Given the description of an element on the screen output the (x, y) to click on. 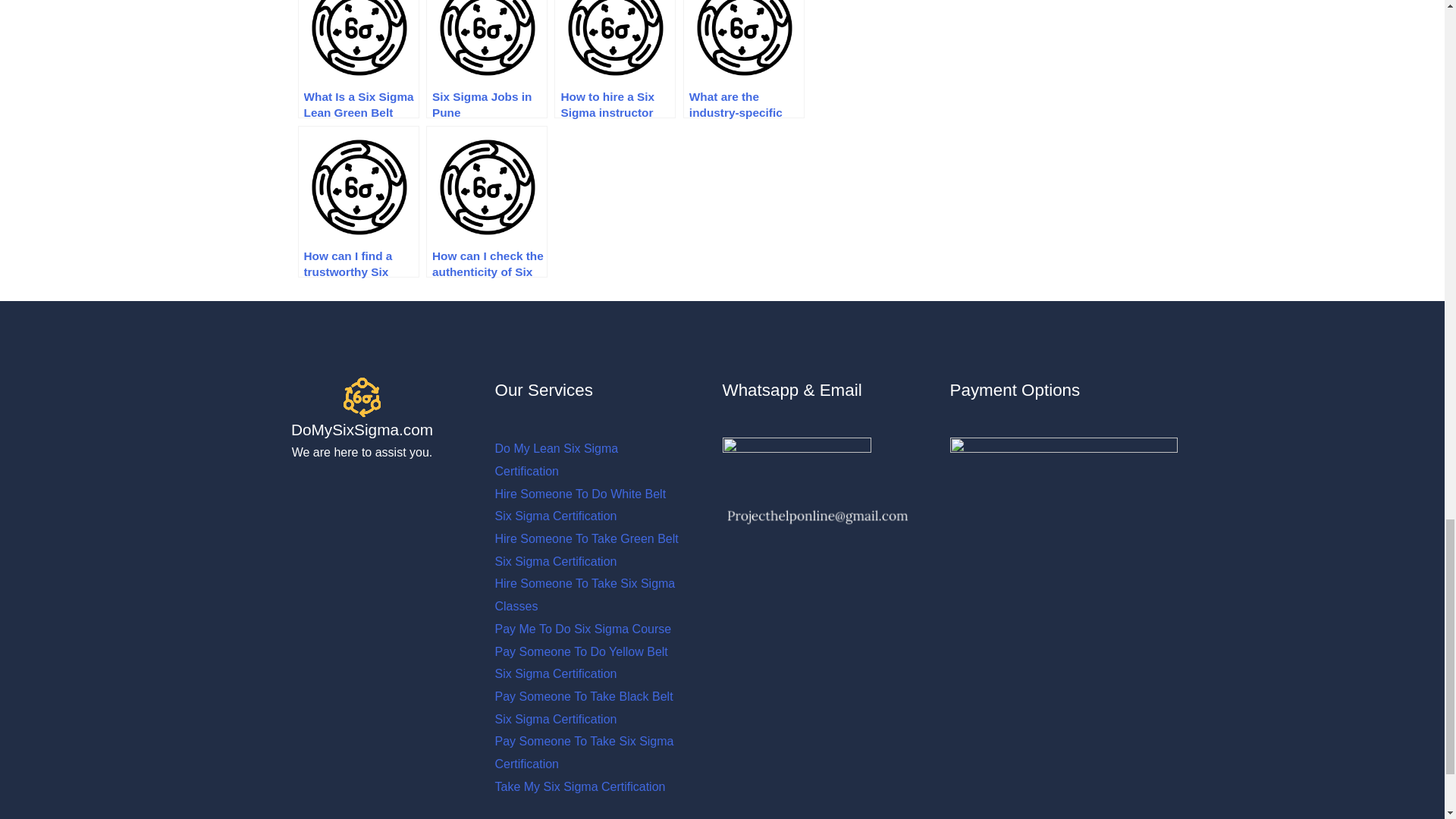
Six Sigma Jobs in Pune (486, 58)
What Is a Six Sigma Lean Green Belt Certification? (358, 58)
Six Sigma Jobs in Pune (486, 58)
What Is a Six Sigma Lean Green Belt Certification? (358, 58)
